Given the description of an element on the screen output the (x, y) to click on. 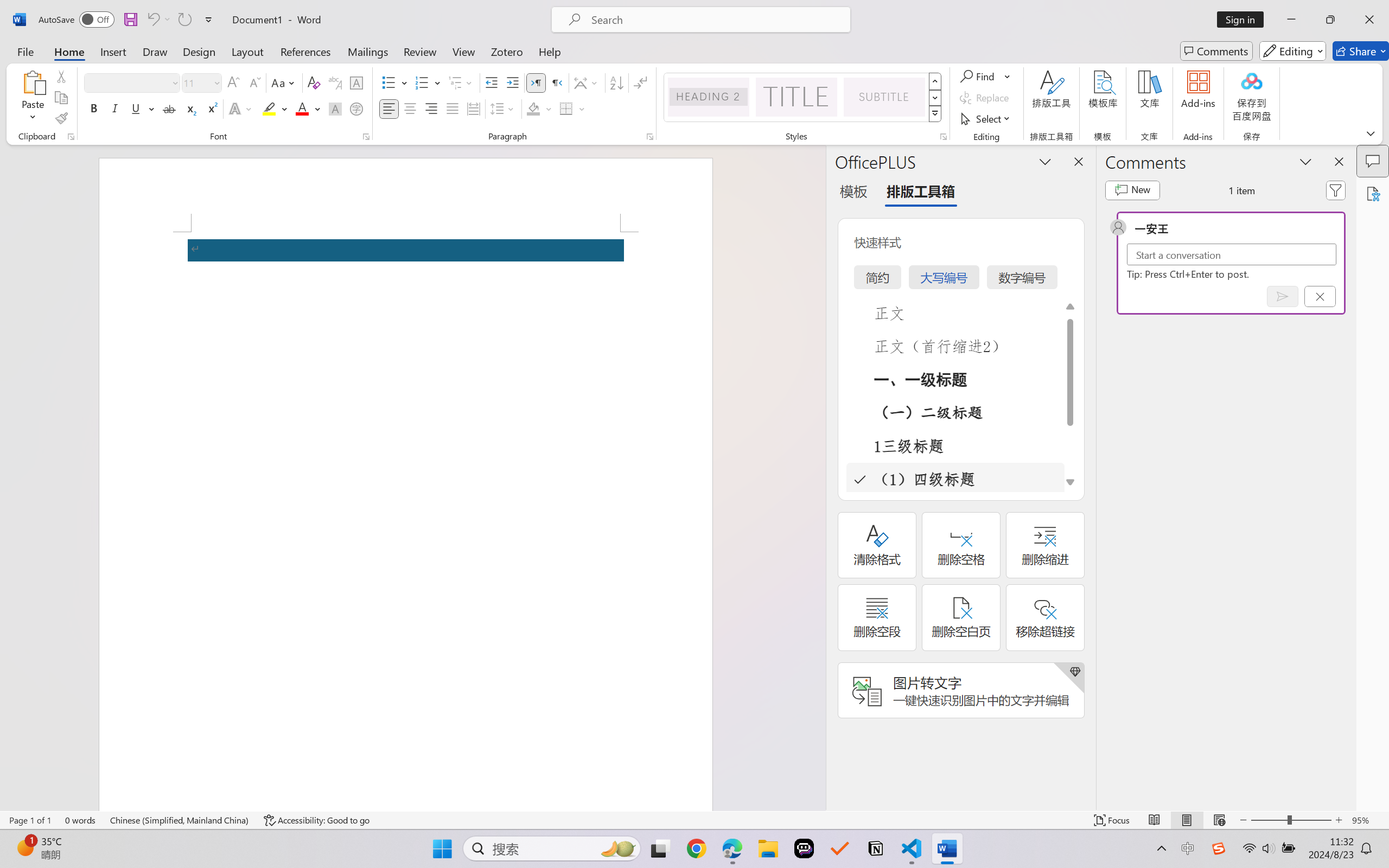
Post comment (Ctrl + Enter) (1282, 296)
Filter (1335, 190)
